Given the description of an element on the screen output the (x, y) to click on. 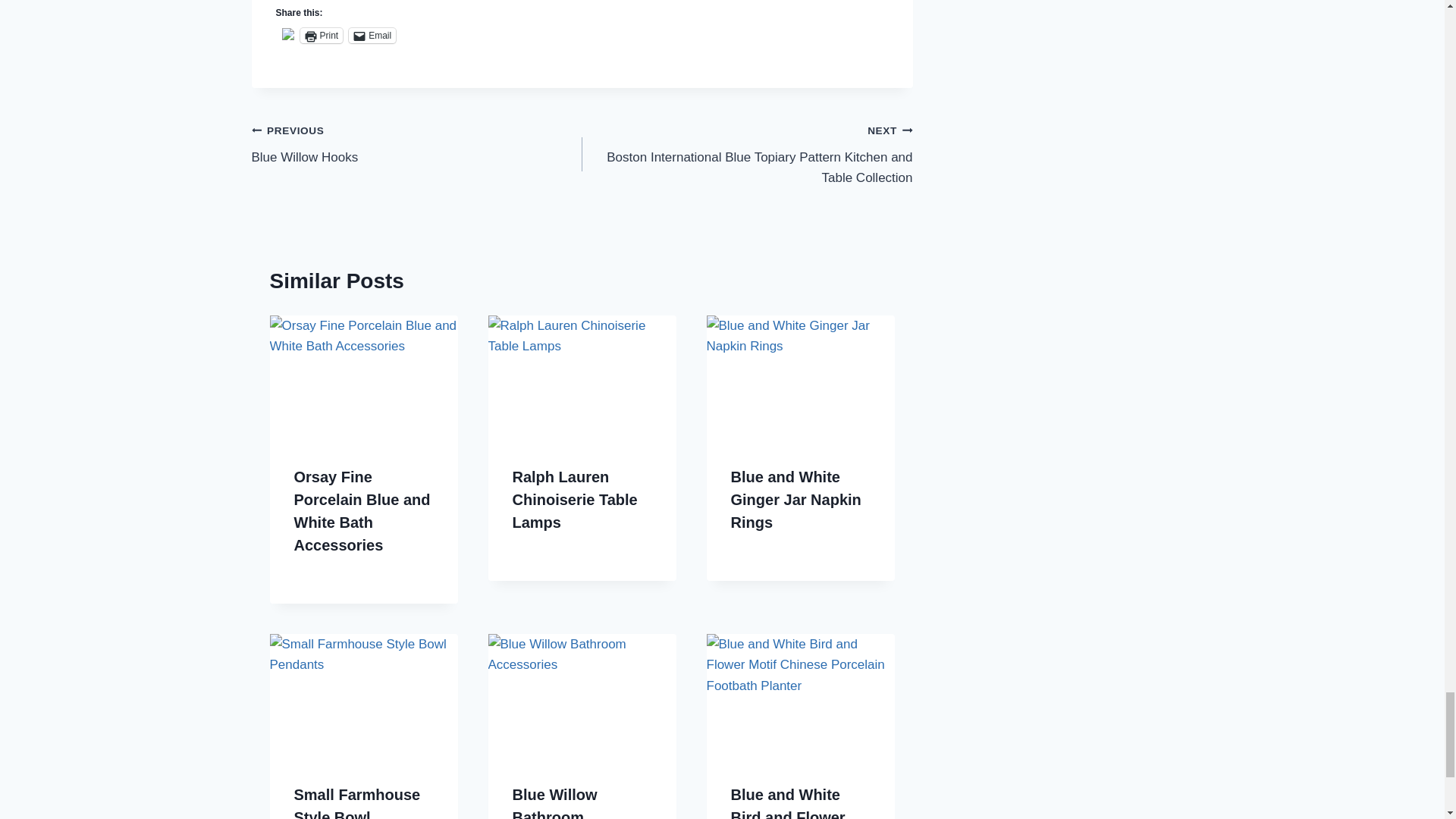
Click to print (321, 35)
Click to email a link to a friend (372, 35)
